Given the description of an element on the screen output the (x, y) to click on. 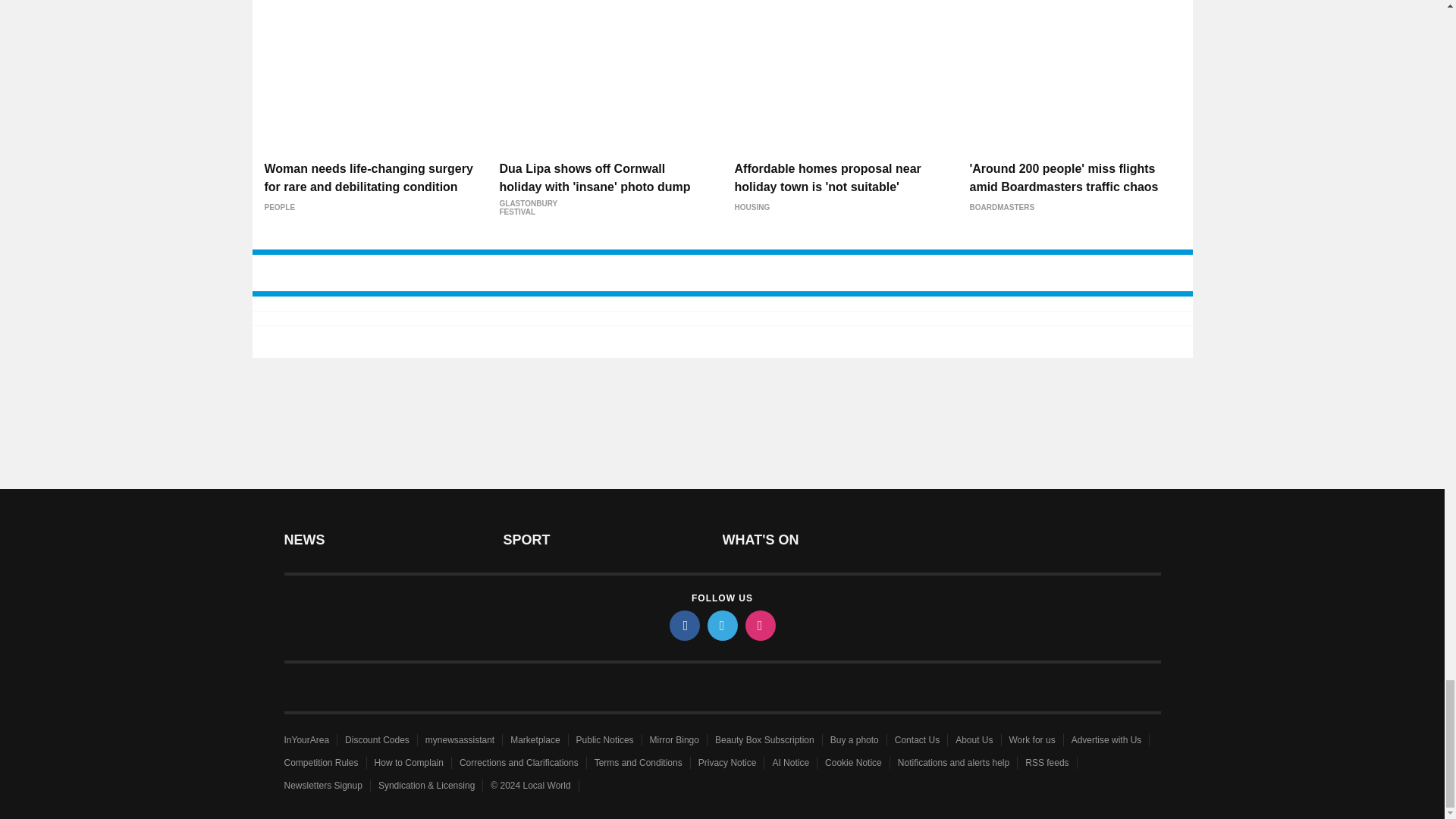
facebook (683, 625)
twitter (721, 625)
instagram (759, 625)
